Given the description of an element on the screen output the (x, y) to click on. 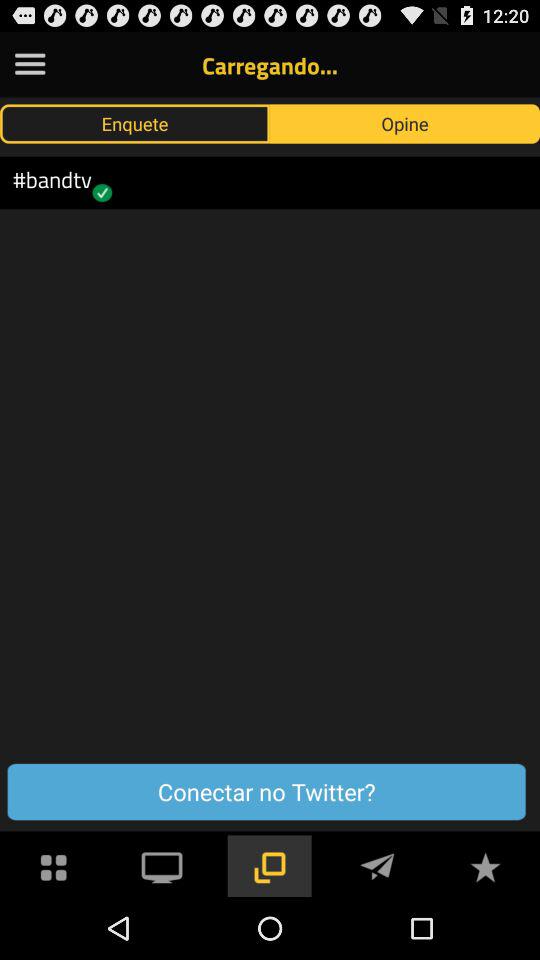
open button next to opine icon (135, 123)
